Given the description of an element on the screen output the (x, y) to click on. 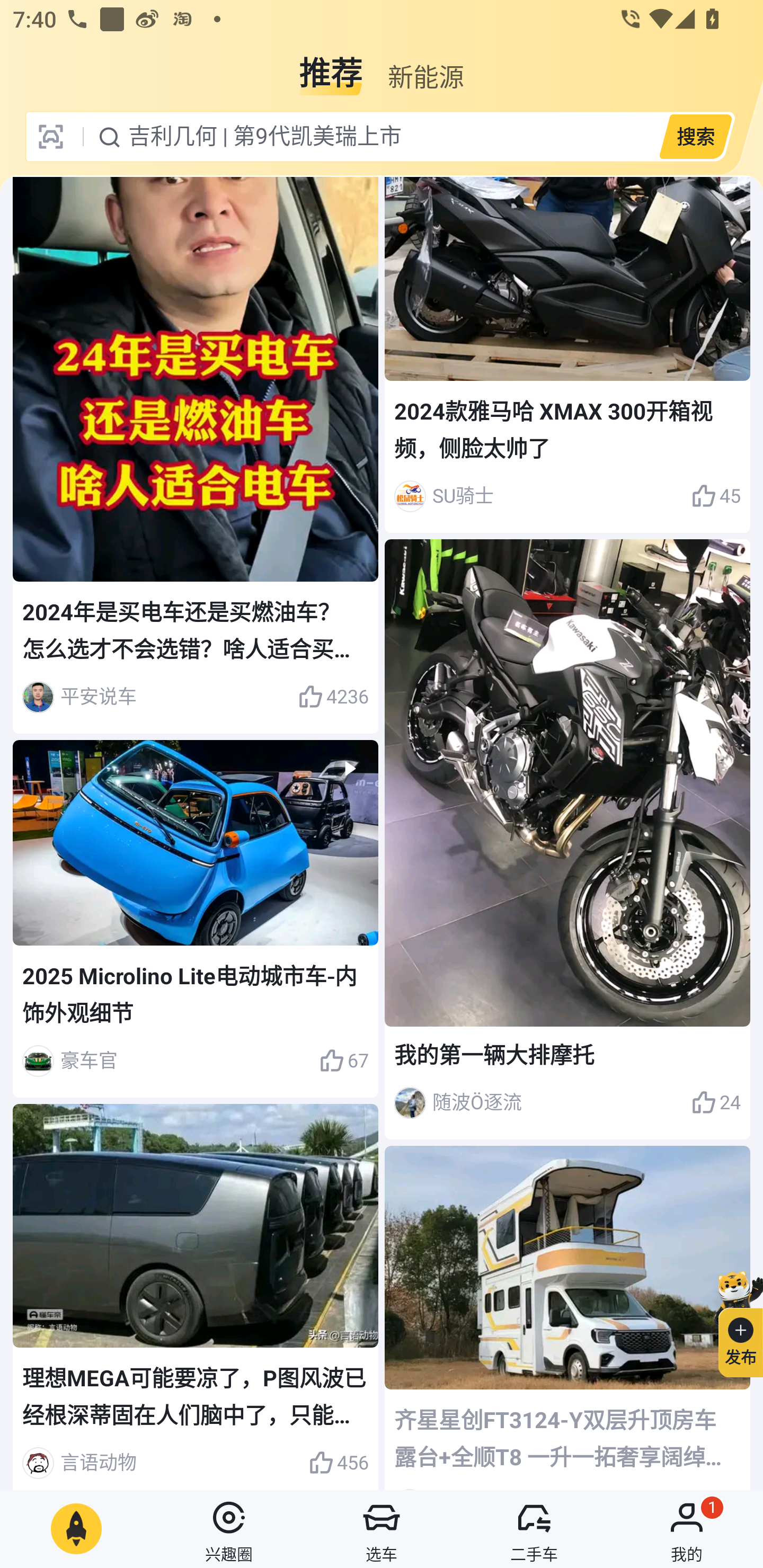
推荐 (330, 65)
新能源 (425, 65)
搜索 (695, 136)
 2024款雅马哈 XMAX 300开箱视频，侧脸太帅了 SU骑士 45 (567, 355)
45 (715, 495)
我的第一辆大排摩托 随波Ö逐流 24 (567, 839)
4236 (332, 696)
 2025 Microlino Lite电动城市车-内饰外观细节 豪车官 67 (195, 918)
67 (343, 1060)
24 (715, 1102)
齐星星创FT3124-Y双层升顶房车 露台+全顺T8 一升一拓奢享阔绰空间 (567, 1317)
发布 (732, 1321)
456 (338, 1462)
 兴趣圈 (228, 1528)
 选车 (381, 1528)
 二手车 (533, 1528)
 我的 (686, 1528)
